Given the description of an element on the screen output the (x, y) to click on. 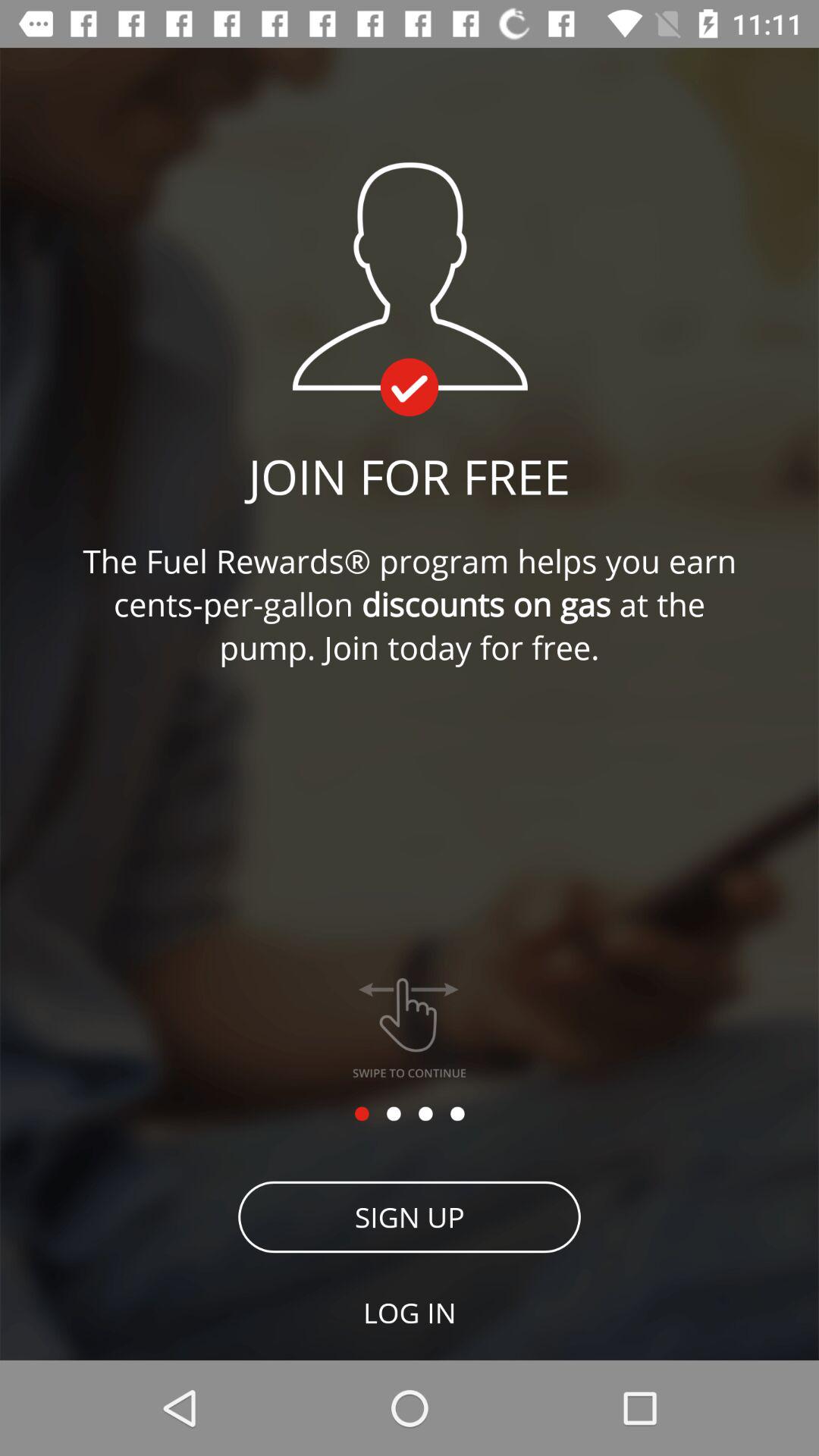
turn on the icon below sign up item (409, 1312)
